Given the description of an element on the screen output the (x, y) to click on. 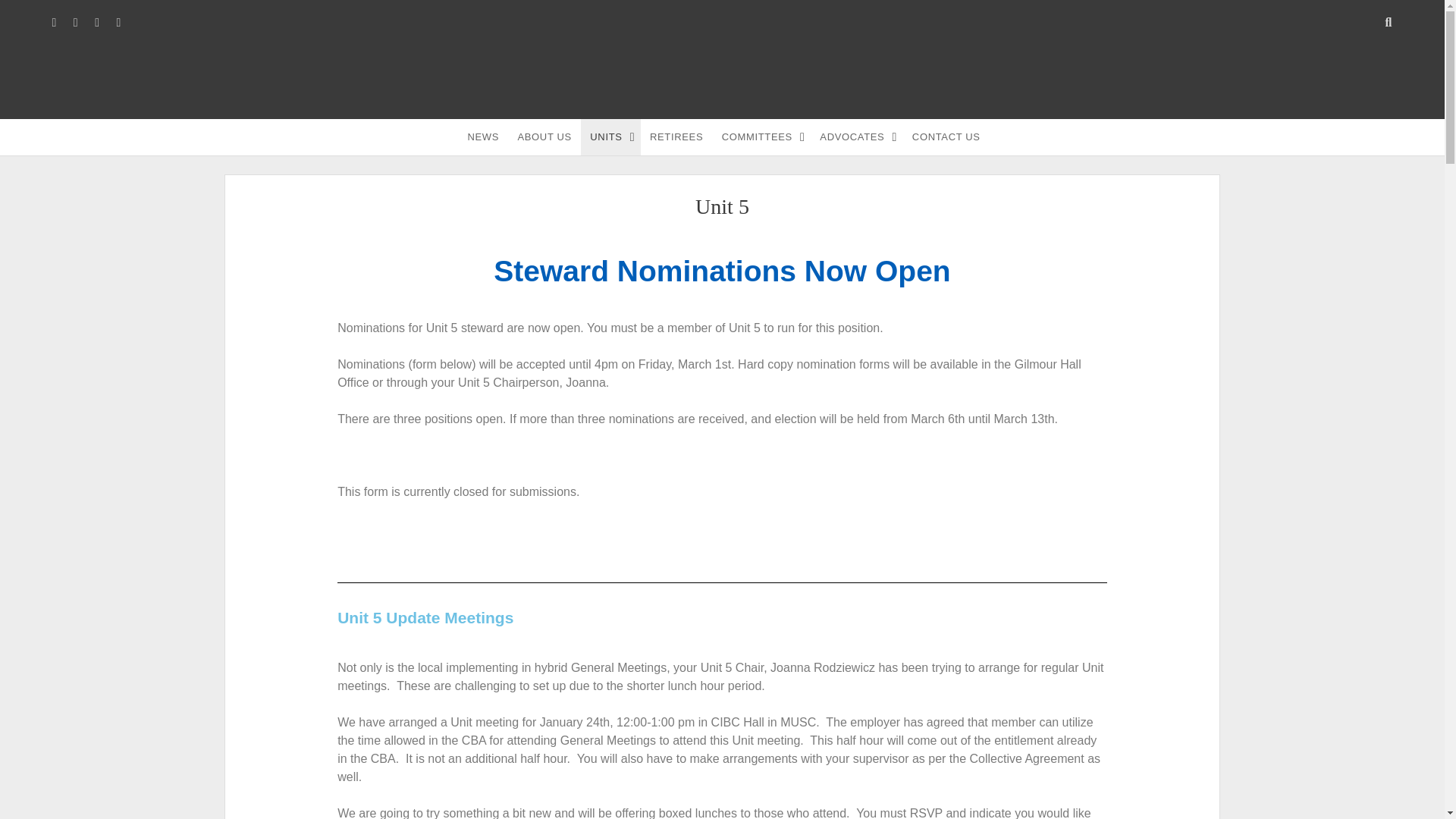
RETIREES (675, 136)
ADVOCATES (856, 136)
UNITS (610, 136)
COMMITTEES (761, 136)
NEWS (483, 136)
CONTACT US (946, 136)
ABOUT US (543, 136)
